Given the description of an element on the screen output the (x, y) to click on. 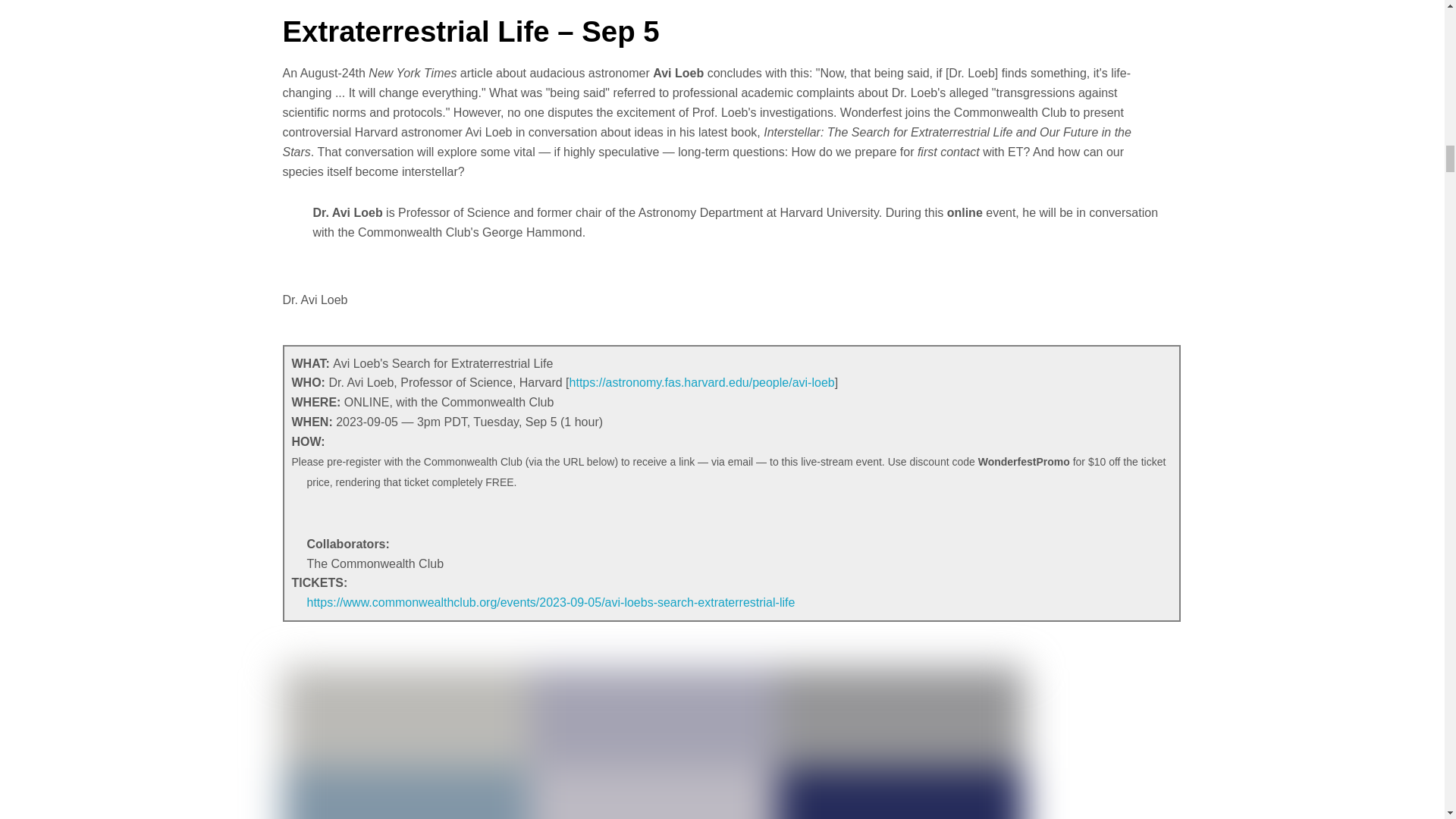
AstroForEarth (652, 743)
Astrobiology2 (325, 1)
